Given the description of an element on the screen output the (x, y) to click on. 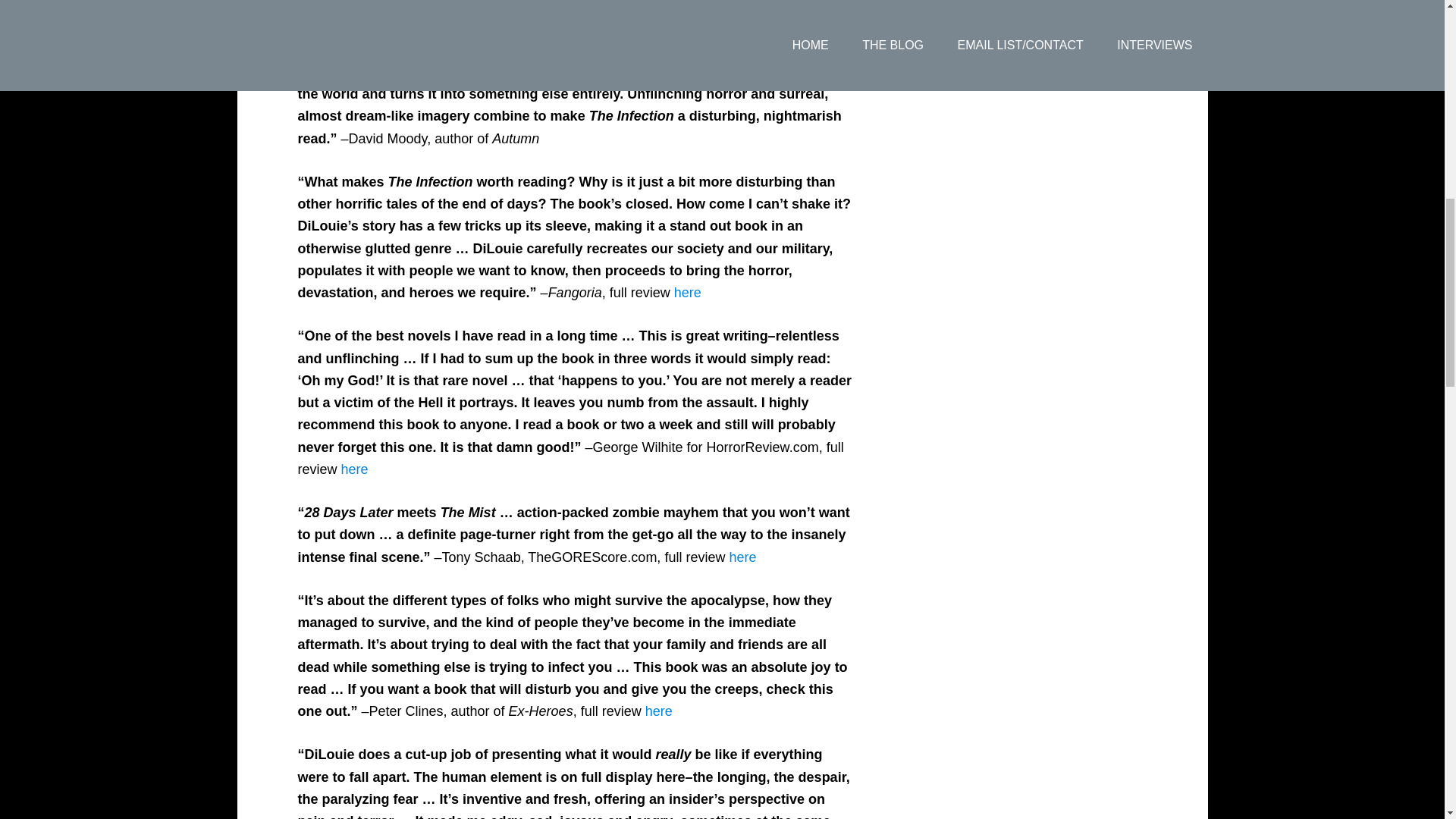
here (742, 557)
here (658, 711)
here (746, 28)
here (354, 468)
here (687, 292)
